Given the description of an element on the screen output the (x, y) to click on. 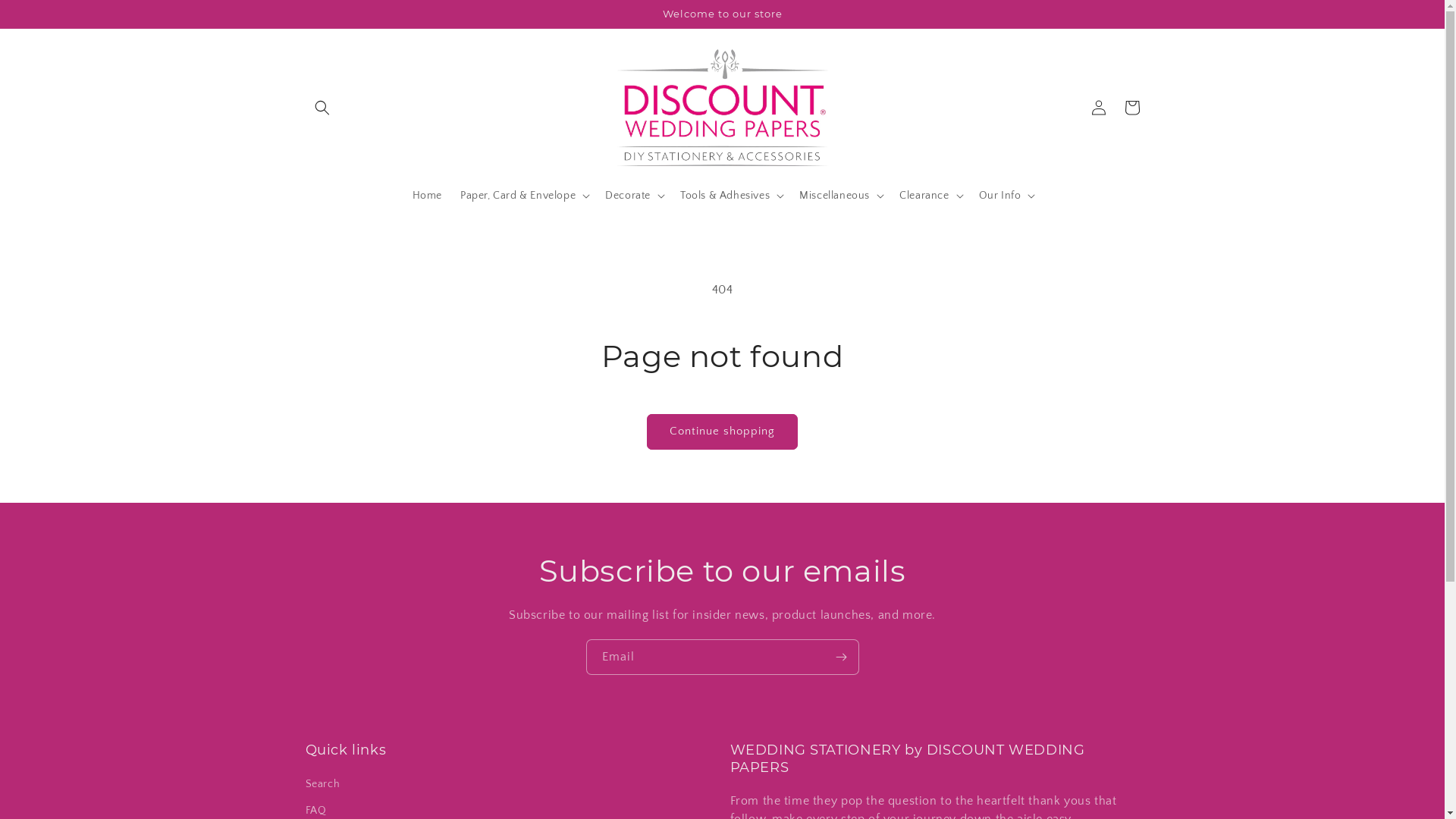
Search Element type: text (321, 786)
Home Element type: text (427, 195)
Log in Element type: text (1097, 107)
Cart Element type: text (1131, 107)
Continue shopping Element type: text (721, 431)
